Given the description of an element on the screen output the (x, y) to click on. 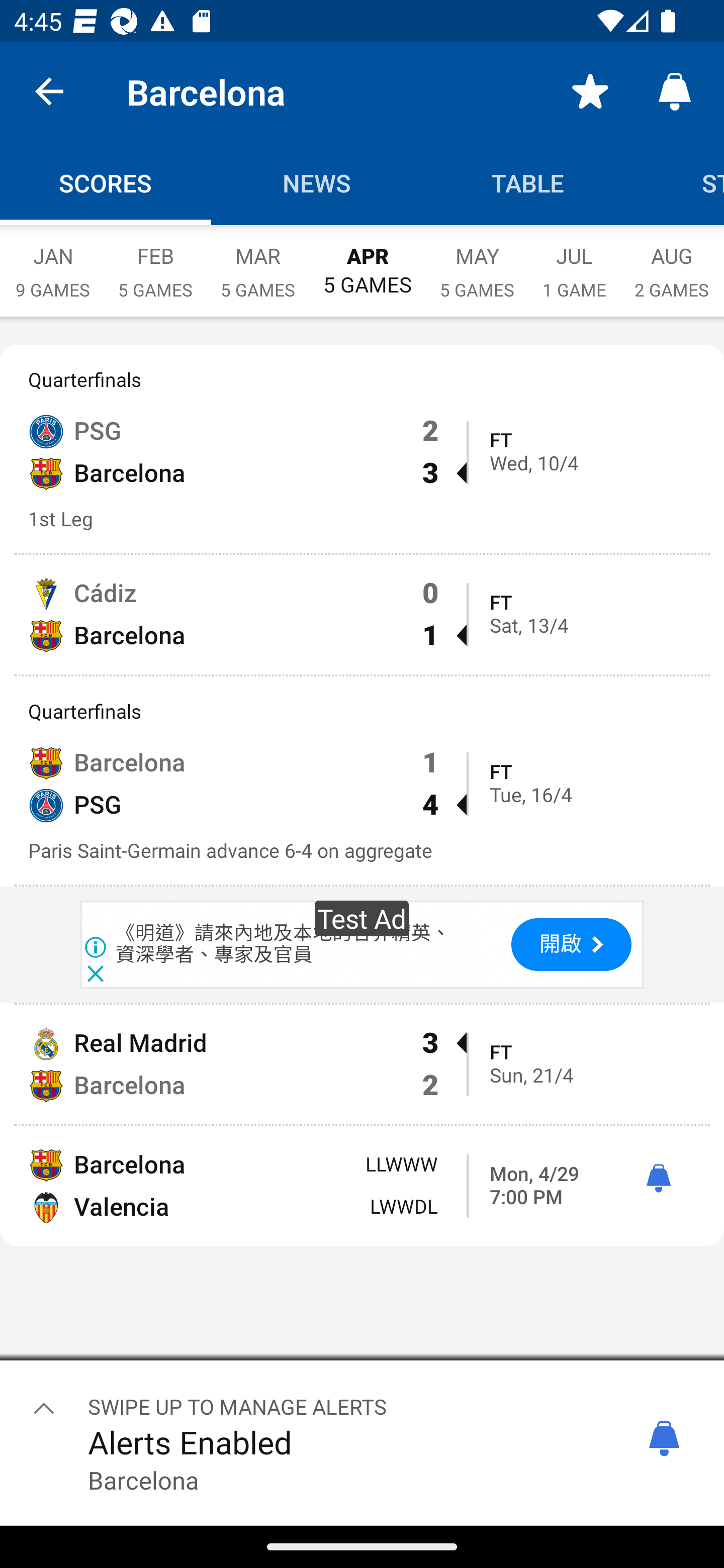
back.button (49, 90)
Favorite toggle (590, 90)
Alerts (674, 90)
News NEWS (316, 183)
Table TABLE (527, 183)
JAN 9 GAMES (52, 262)
FEB 5 GAMES (155, 262)
MAR 5 GAMES (257, 262)
APR 5 GAMES (367, 261)
MAY 5 GAMES (476, 262)
JUL 1 GAME (574, 262)
AUG 2 GAMES (671, 262)
Cádiz 0 Barcelona 1  FT Sat, 13/4 (362, 614)
開啟 (570, 944)
Real Madrid 3  Barcelona 2 FT Sun, 21/4 (362, 1064)
